Given the description of an element on the screen output the (x, y) to click on. 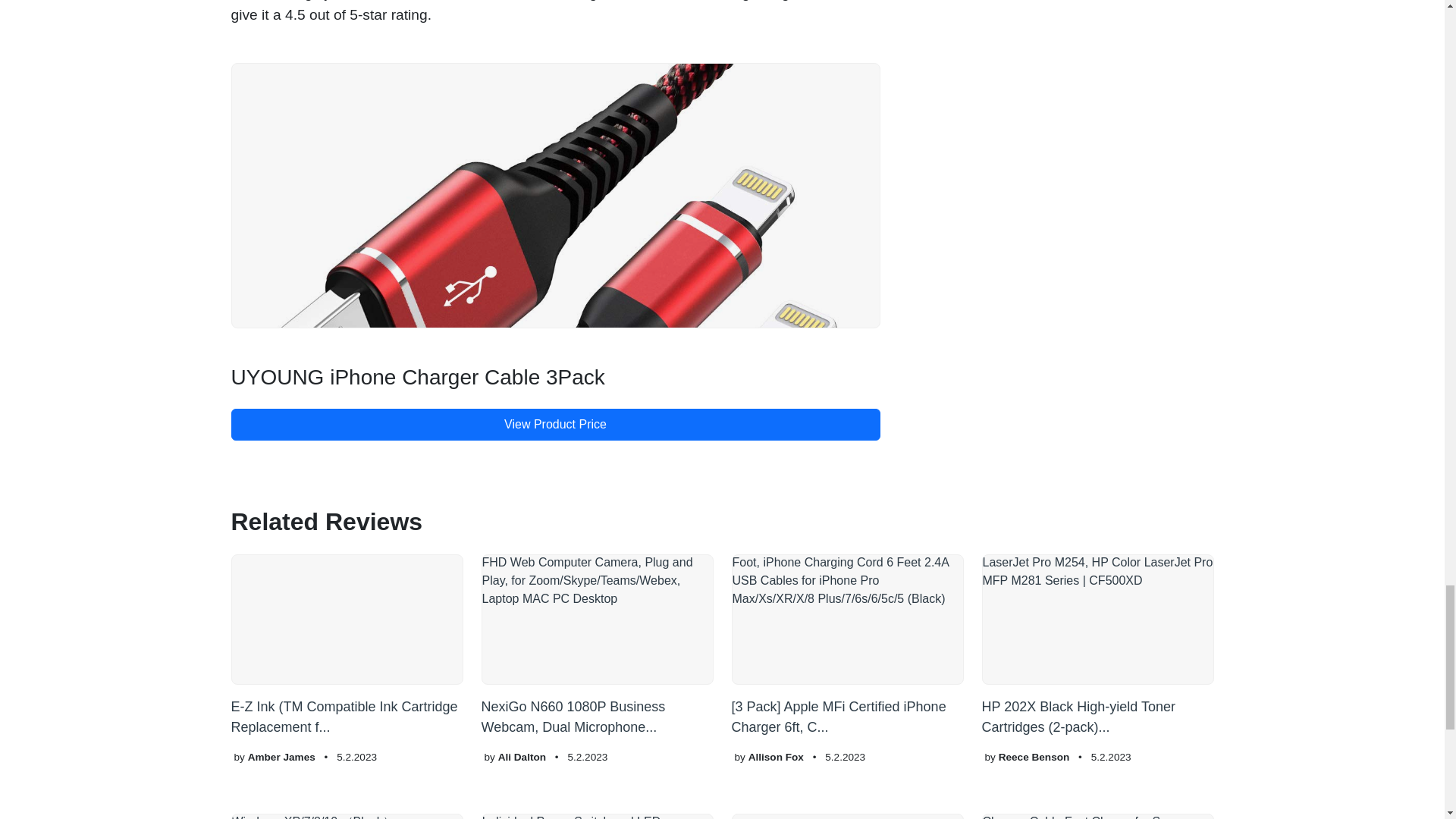
USB 3.0 Hub Splitter - USB Extender 4 Port USB Ult... (596, 816)
View Product Price (554, 423)
Topaz T-S460-HSB-R USB Electronic Signature Captur... (846, 816)
BTFDREEM USB to HDMI Adapter for Multiple Monitors... (346, 816)
NexiGo N660 1080P Business Webcam, Dual Microphone... (596, 645)
